Given the description of an element on the screen output the (x, y) to click on. 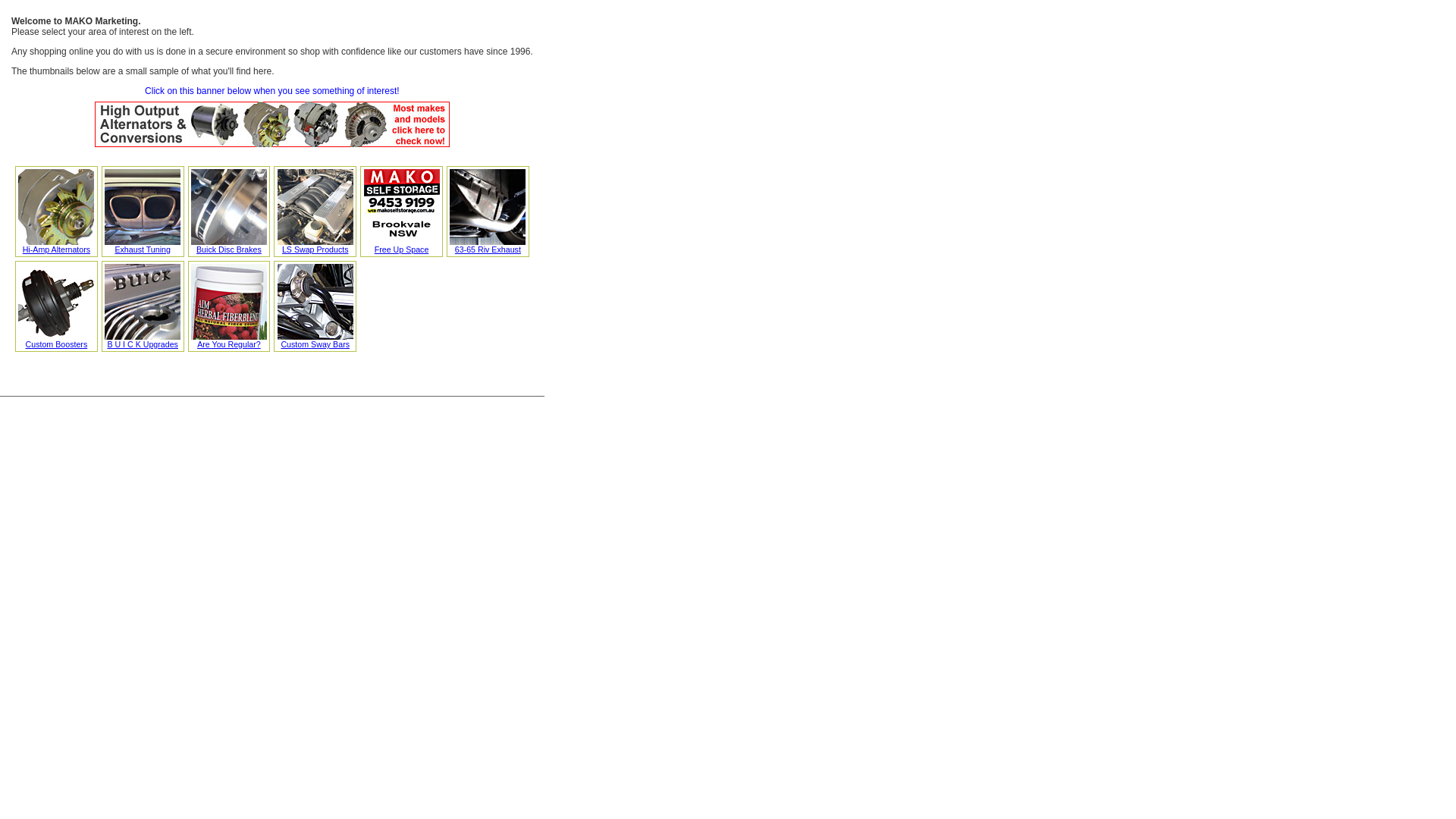
Hi-Amp Alternators Element type: text (56, 245)
Buick Disc Brakes Element type: text (228, 245)
Free Up Space Element type: text (401, 245)
Are You Regular? Element type: text (228, 340)
63-65 Riv Exhaust Element type: text (487, 245)
LS Swap Products Element type: text (315, 245)
Custom Boosters Element type: text (56, 340)
B U I C K Upgrades Element type: text (142, 340)
Exhaust Tuning Element type: text (142, 245)
Custom Sway Bars Element type: text (315, 340)
